Given the description of an element on the screen output the (x, y) to click on. 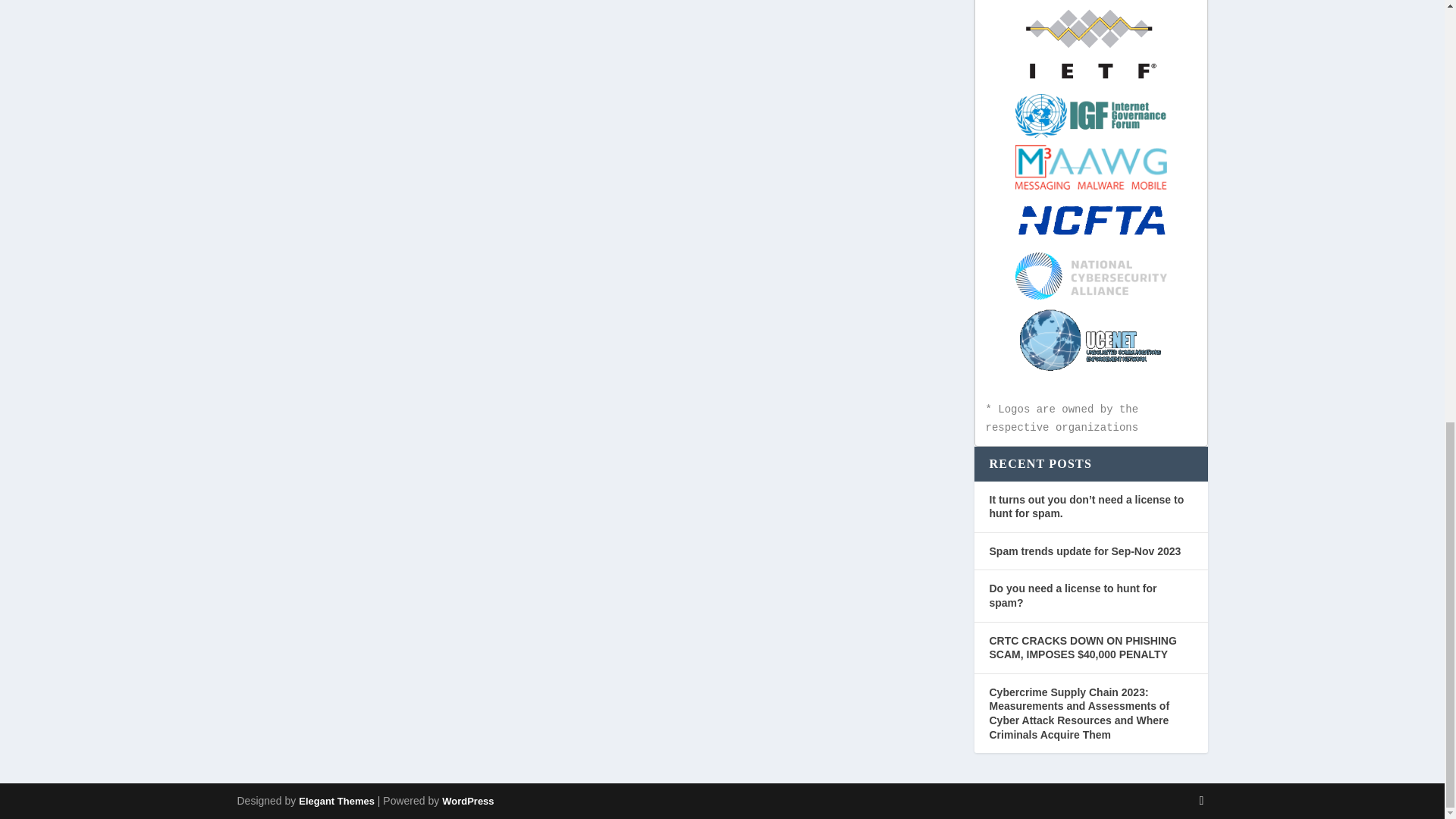
Do you need a license to hunt for spam? (1072, 595)
Spam trends update for Sep-Nov 2023 (1084, 551)
Elegant Themes (336, 800)
WordPress (467, 800)
Premium WordPress Themes (336, 800)
